Given the description of an element on the screen output the (x, y) to click on. 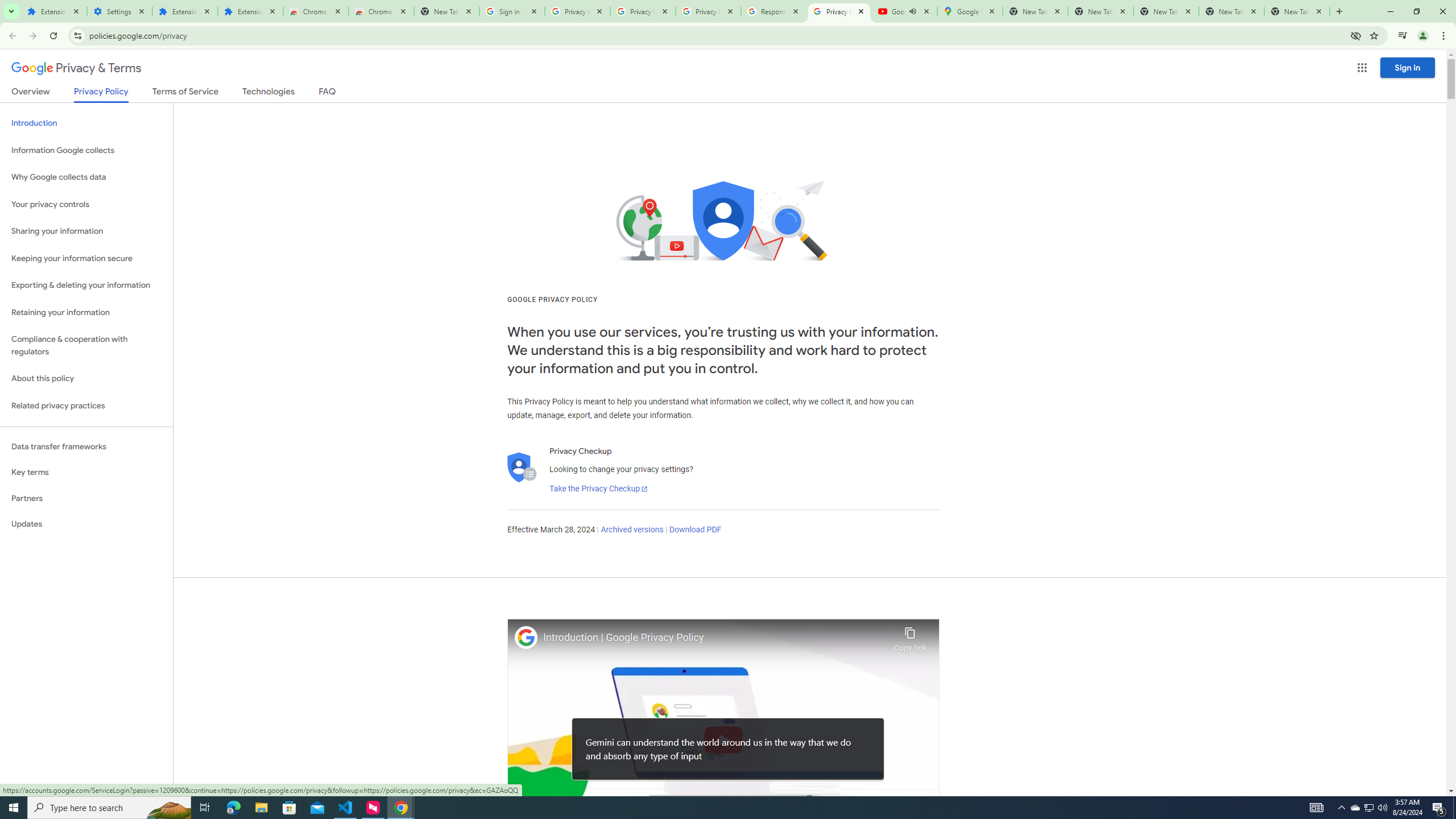
Terms of Service (184, 93)
Overview (30, 93)
Partners (86, 497)
Download PDF (695, 529)
Key terms (86, 472)
Photo image of Google (526, 636)
Exporting & deleting your information (86, 284)
FAQ (327, 93)
Google apps (1362, 67)
